Given the description of an element on the screen output the (x, y) to click on. 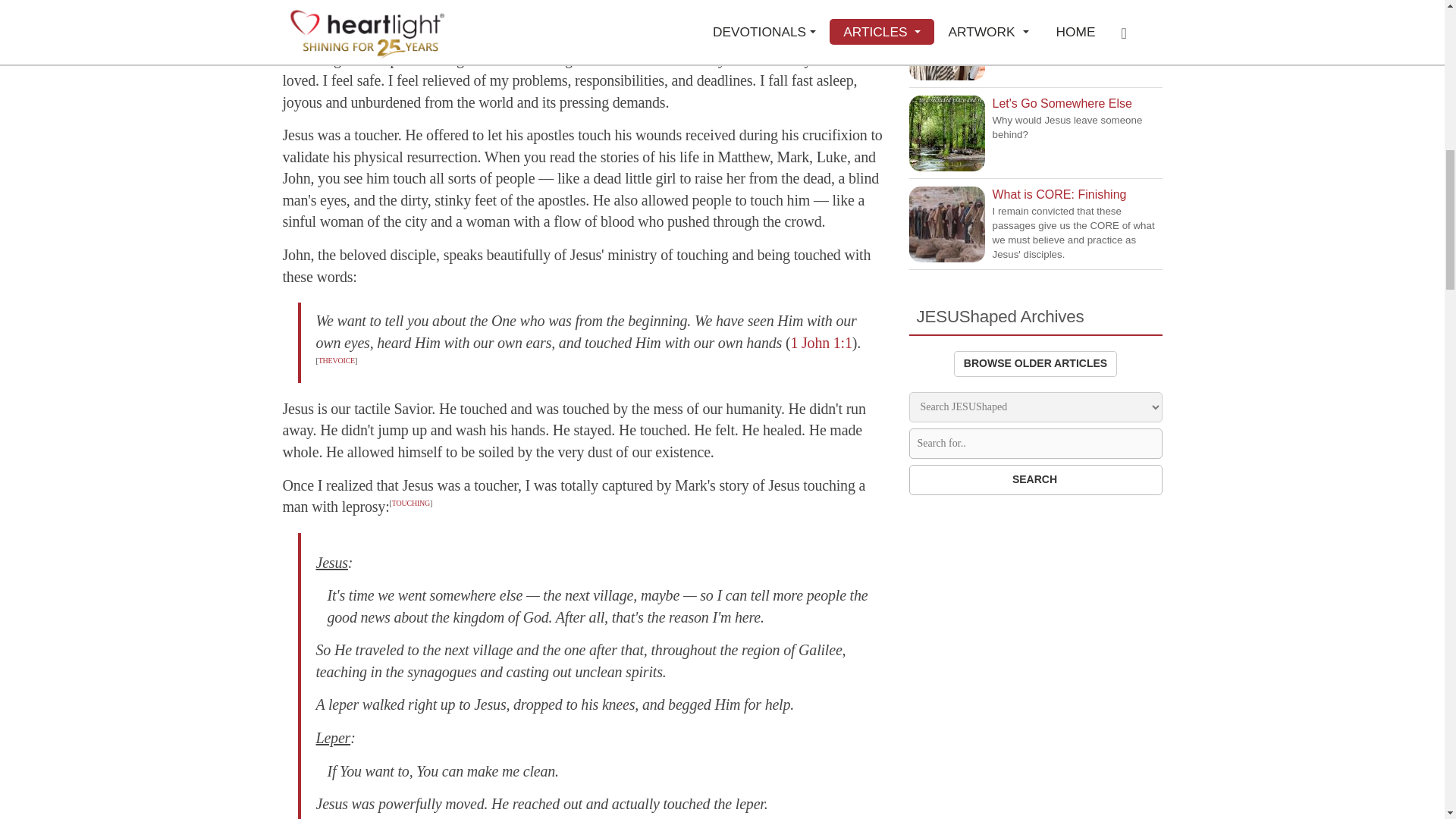
What is CORE: Finishing (946, 224)
Let's Go Somewhere Else (946, 133)
Sharing in the Joy! (946, 42)
Search (1034, 480)
Search (1034, 480)
